Given the description of an element on the screen output the (x, y) to click on. 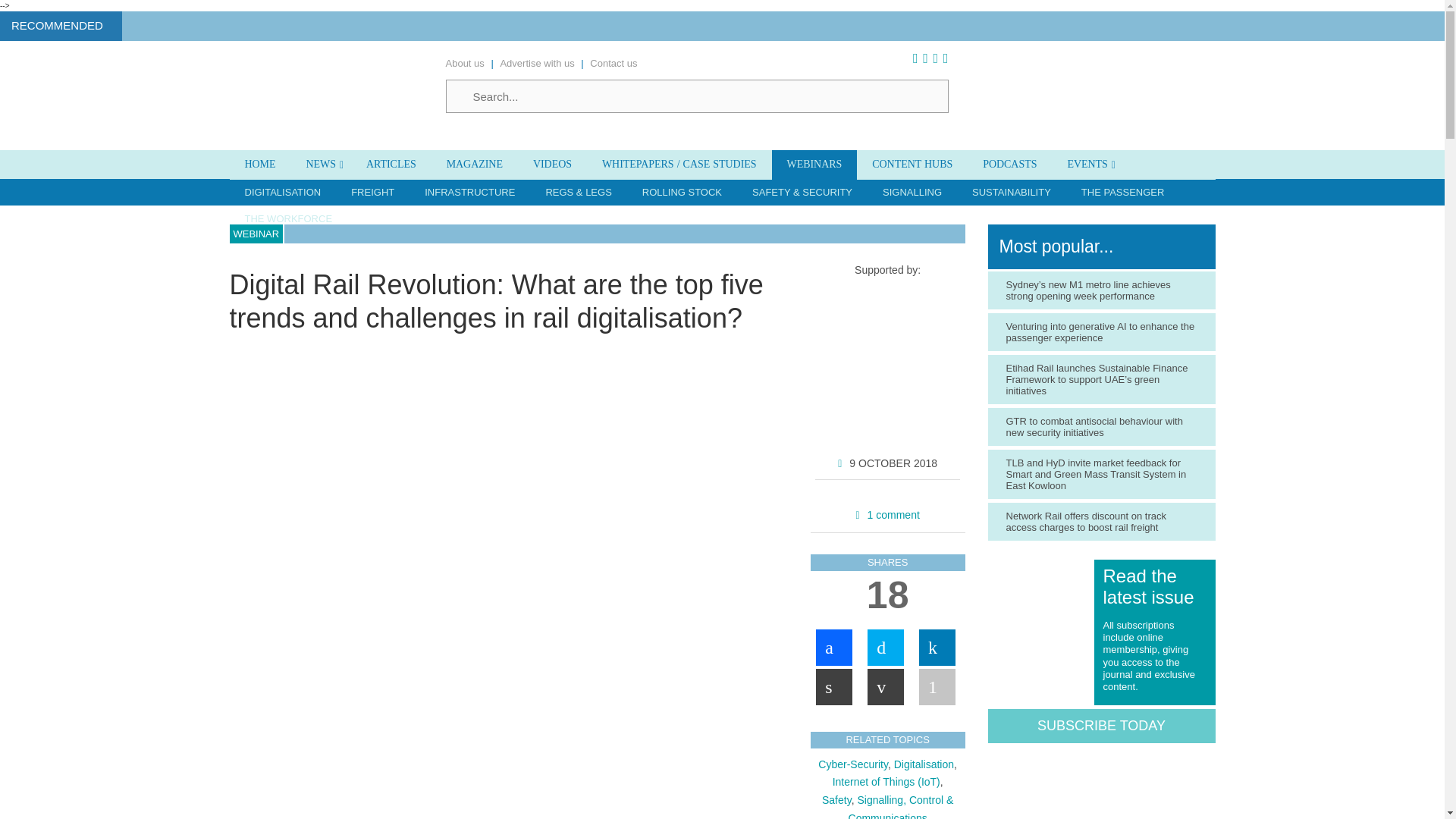
HOME (258, 164)
NEWS (320, 164)
Search (697, 96)
Advertise with us (536, 62)
Contact us (613, 62)
About us (464, 62)
